Given the description of an element on the screen output the (x, y) to click on. 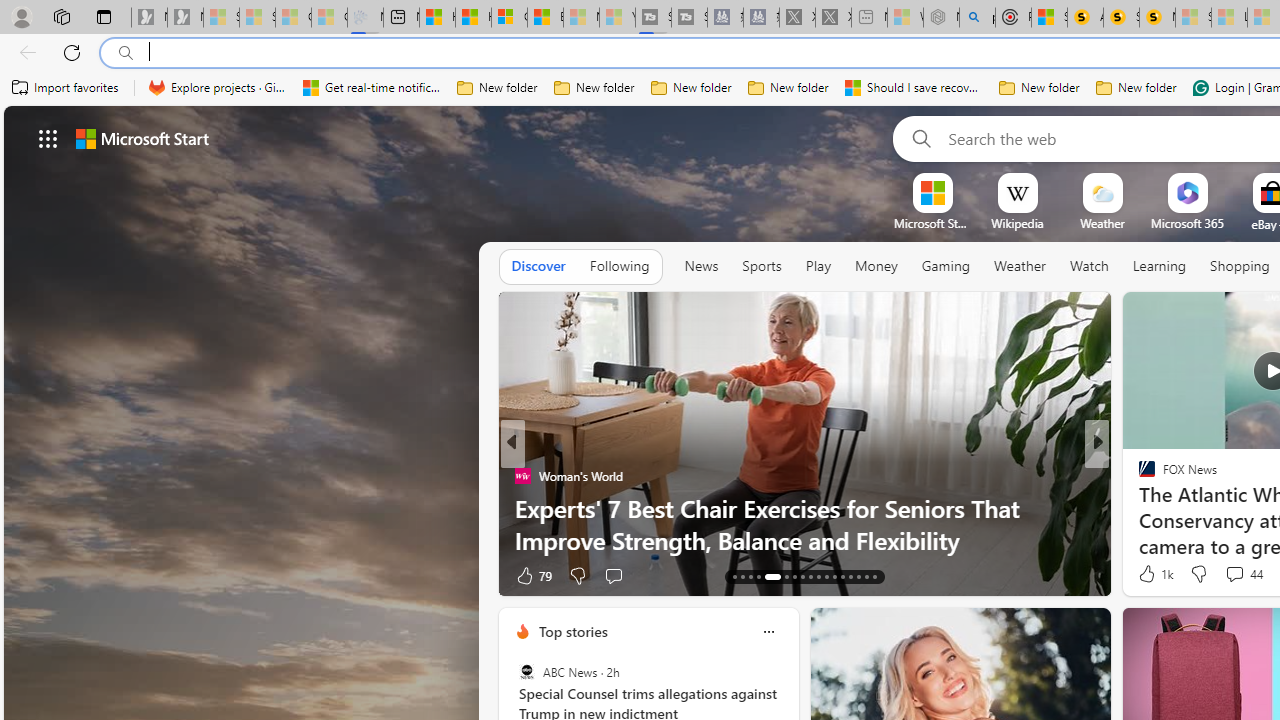
AutomationID: tab-22 (818, 576)
Ad Choice (1087, 575)
186 Like (1151, 574)
5 Like (1145, 574)
USA TODAY (1138, 475)
Discover (538, 267)
Sports (761, 267)
AutomationID: tab-26 (850, 576)
Microsoft 365 (1186, 223)
